Given the description of an element on the screen output the (x, y) to click on. 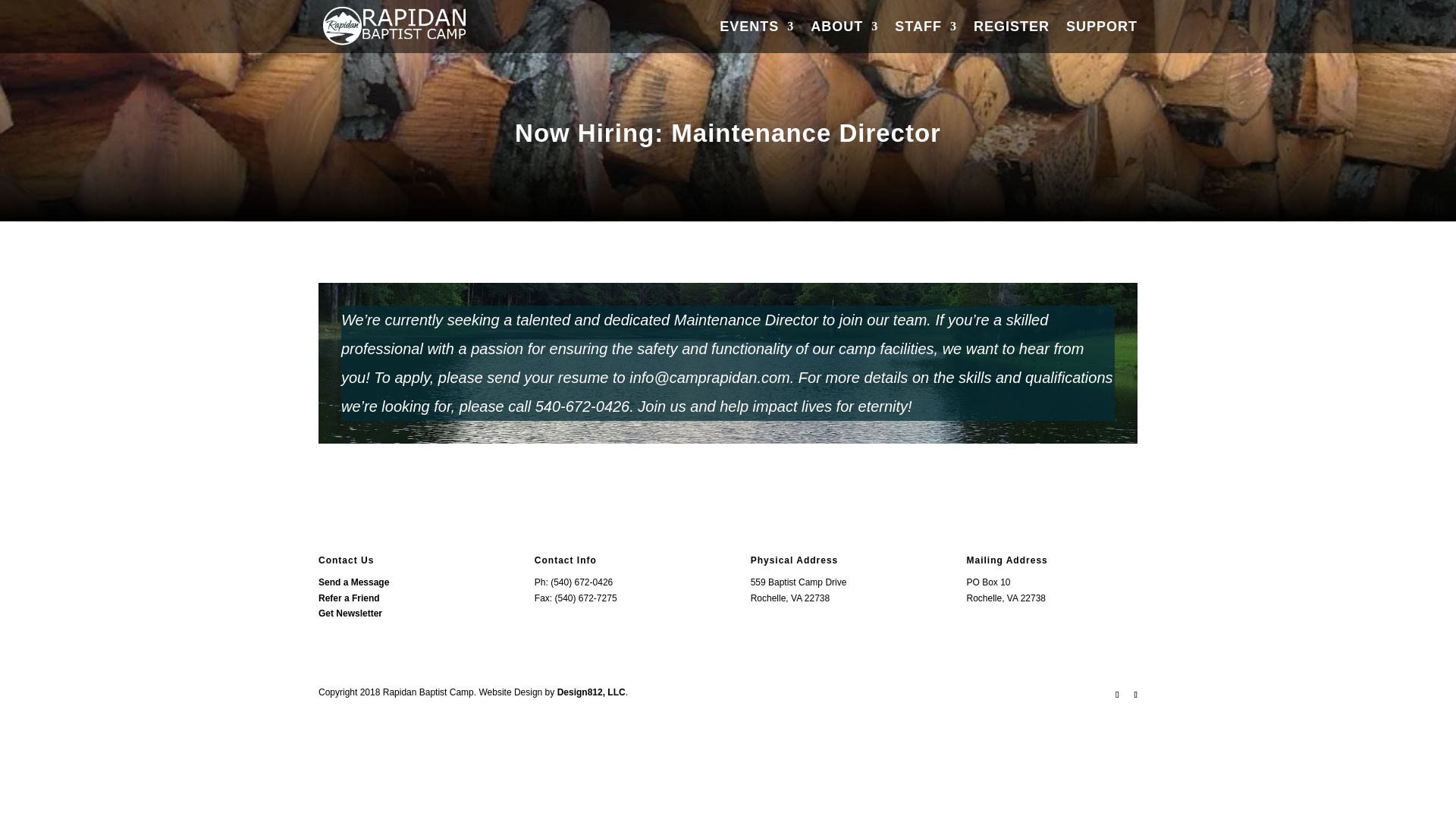
Refer a Friend (349, 597)
EVENTS (756, 37)
SUPPORT (1101, 37)
ABOUT (843, 37)
Send a Message (353, 582)
Get Newsletter (349, 613)
REGISTER (1011, 37)
STAFF (925, 37)
Design812, LLC (591, 692)
